Given the description of an element on the screen output the (x, y) to click on. 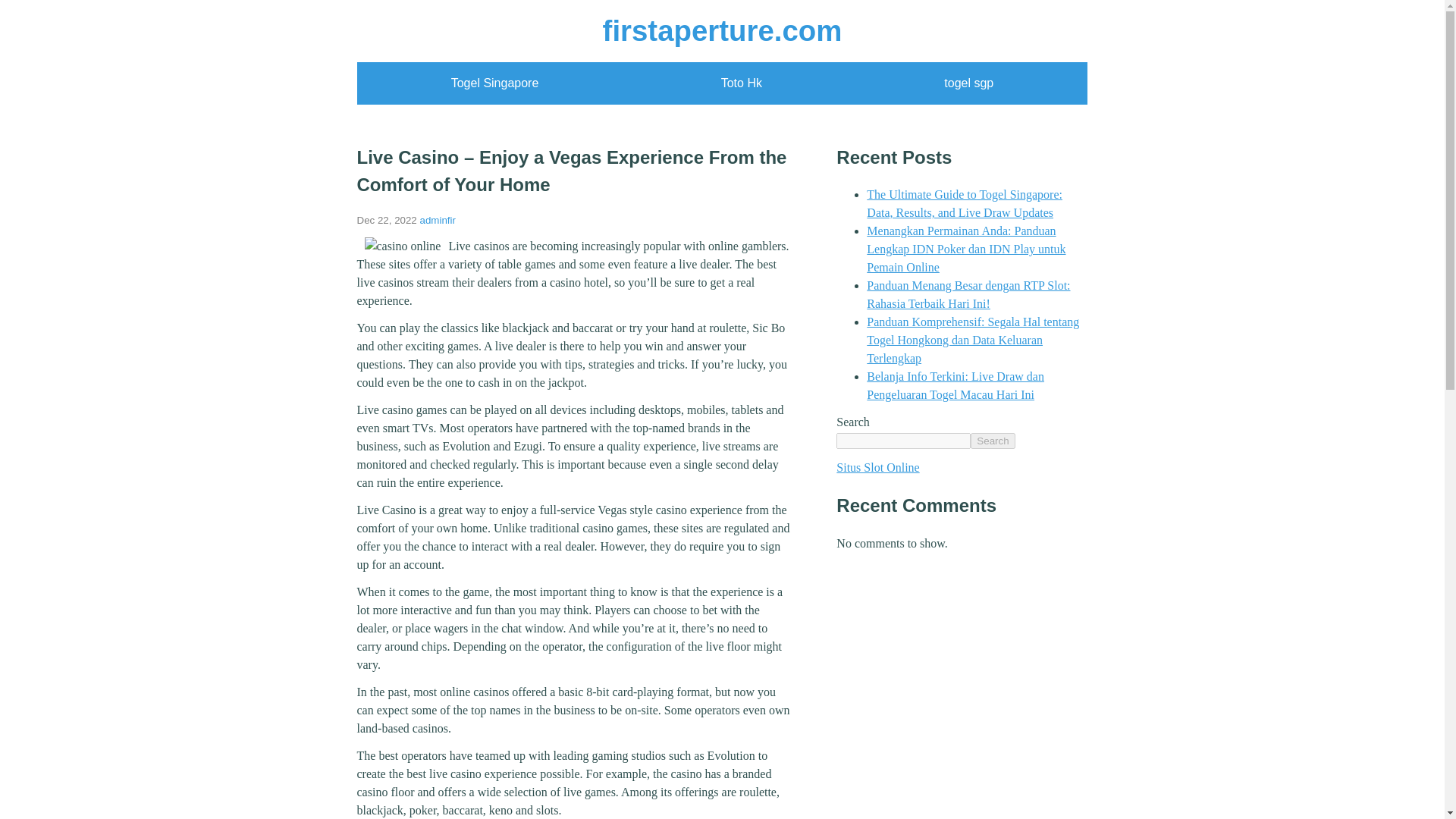
Togel Singapore (494, 82)
adminfir (437, 220)
Situs Slot Online (876, 467)
Toto Hk (740, 82)
firstaperture.com (722, 30)
togel sgp (967, 82)
